Given the description of an element on the screen output the (x, y) to click on. 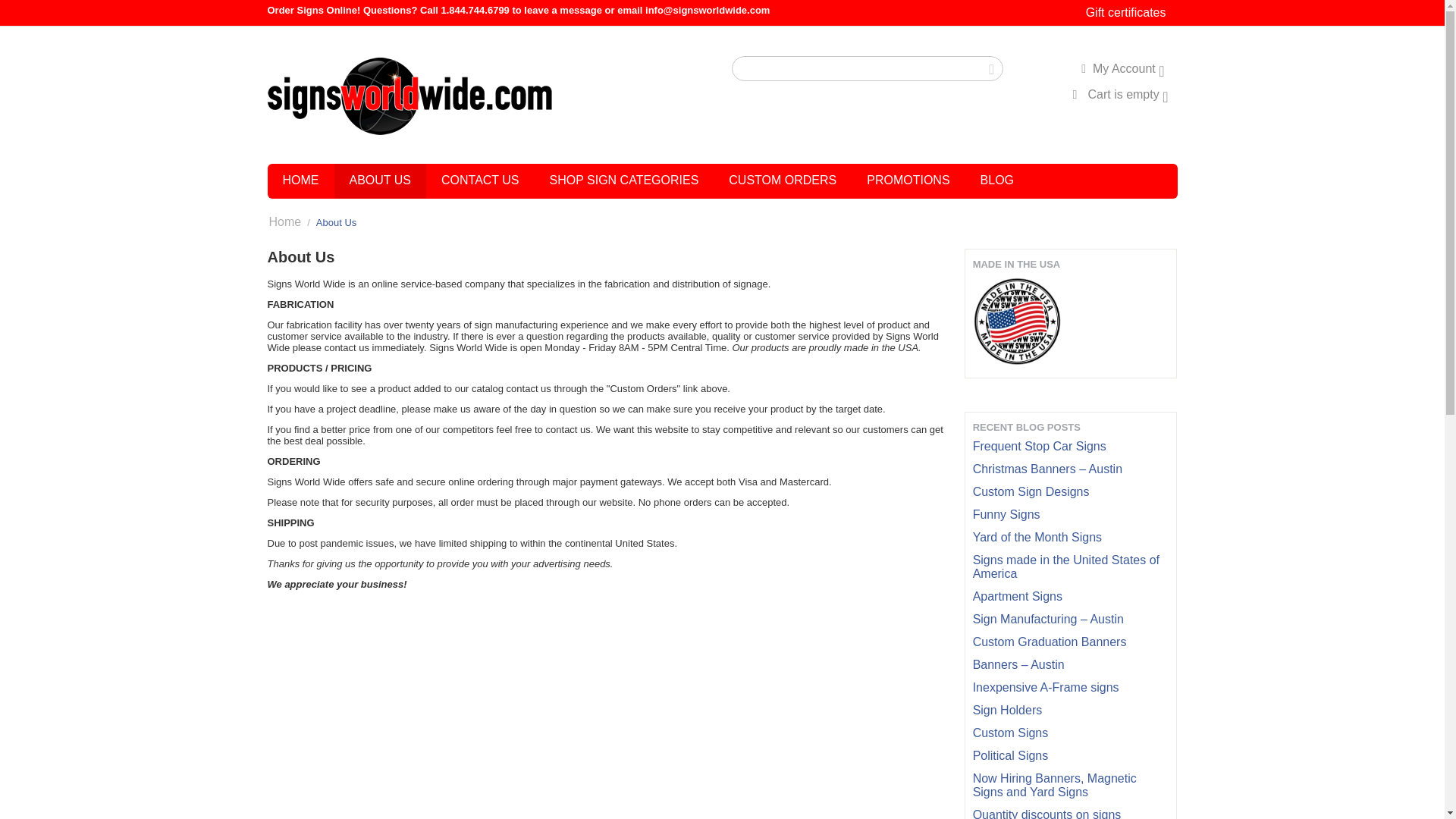
  My Account (1122, 68)
Custom Sign Designs (1030, 491)
Apartment Signs (1017, 595)
Cart is empty (1119, 93)
Signs made in the United States of America (1065, 566)
Funny Signs (1006, 513)
Yard of the Month Signs (1037, 536)
BLOG (997, 181)
Frequent Stop Car Signs (1039, 445)
CUSTOM ORDERS (782, 181)
